Given the description of an element on the screen output the (x, y) to click on. 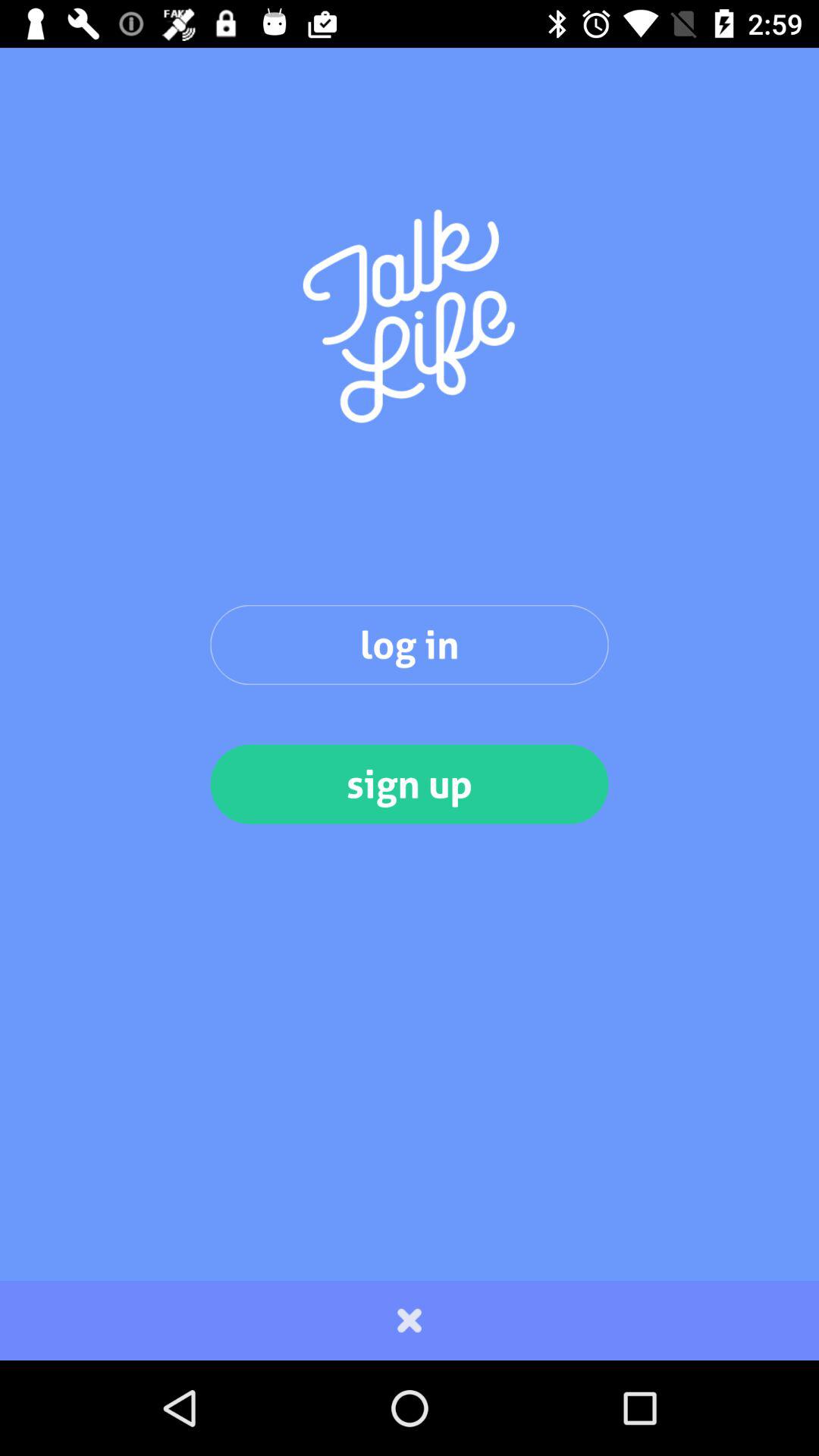
turn off log in (409, 644)
